Given the description of an element on the screen output the (x, y) to click on. 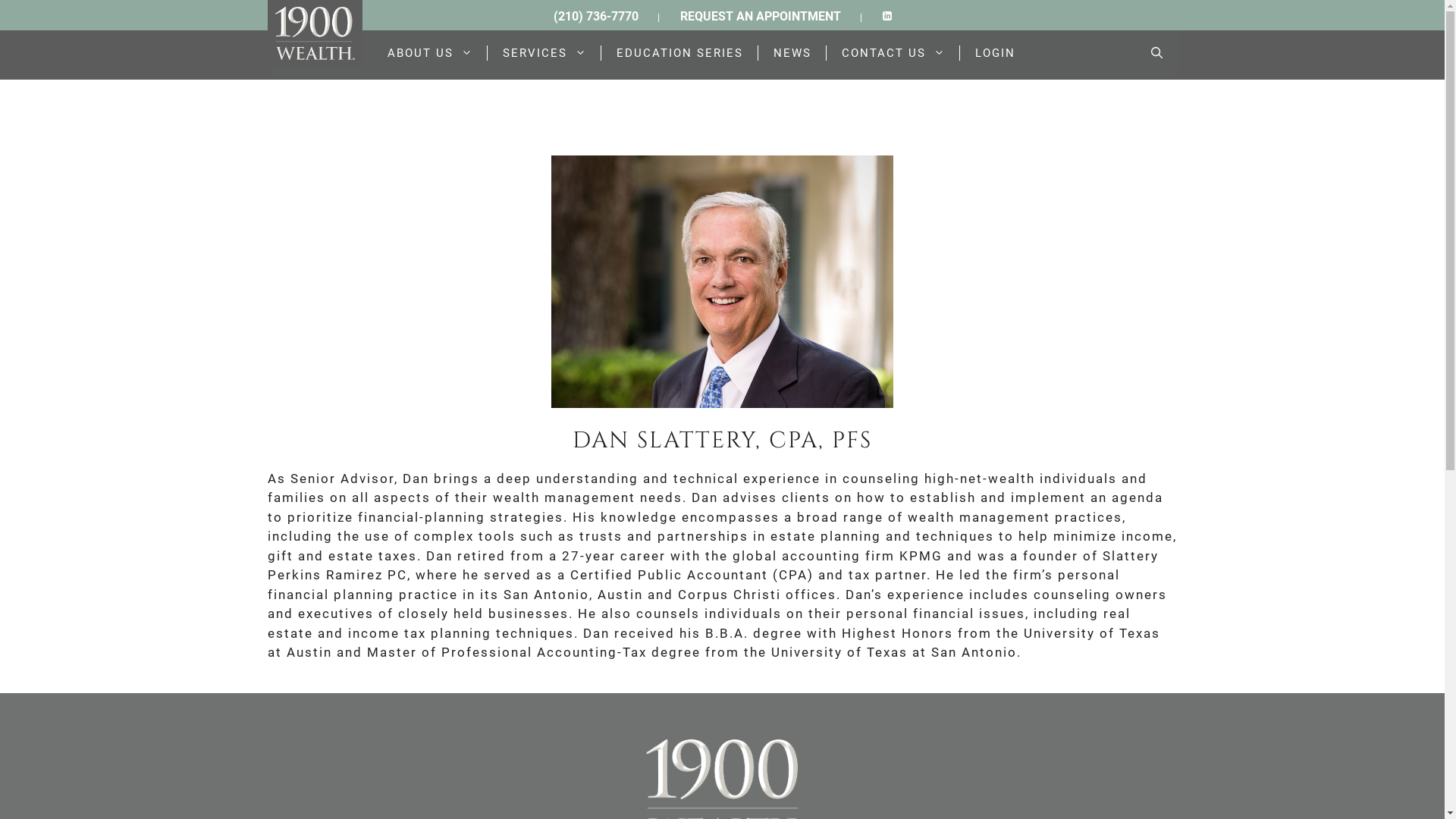
EDUCATION SERIES Element type: text (679, 52)
NEWS Element type: text (792, 52)
CONTACT US Element type: text (893, 52)
REQUEST AN APPOINTMENT Element type: text (759, 16)
SERVICES Element type: text (544, 52)
(210) 736-7770 Element type: text (595, 16)
ABOUT US Element type: text (429, 52)
LOGIN Element type: text (995, 52)
